Given the description of an element on the screen output the (x, y) to click on. 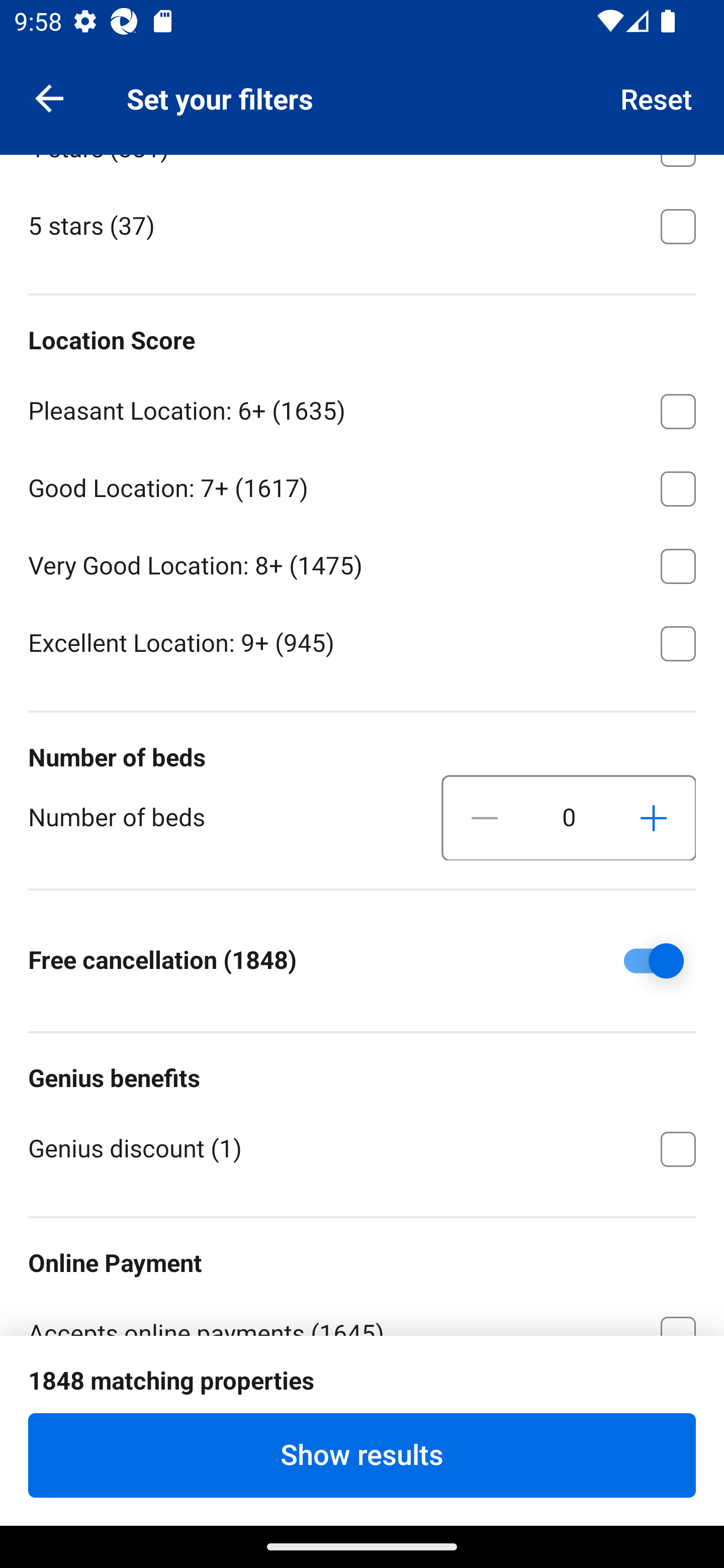
Navigate up (49, 97)
Reset (656, 97)
5 stars ⁦(37) (361, 224)
Pleasant Location: 6+ ⁦(1635) (361, 408)
Good Location: 7+ ⁦(1617) (361, 484)
Very Good Location: 8+ ⁦(1475) (361, 562)
Excellent Location: 9+ ⁦(945) (361, 642)
Decrease (484, 818)
Increase (653, 818)
Free cancellation ⁦(1848) (639, 960)
Genius discount ⁦(1) (361, 1147)
Show results (361, 1454)
